Given the description of an element on the screen output the (x, y) to click on. 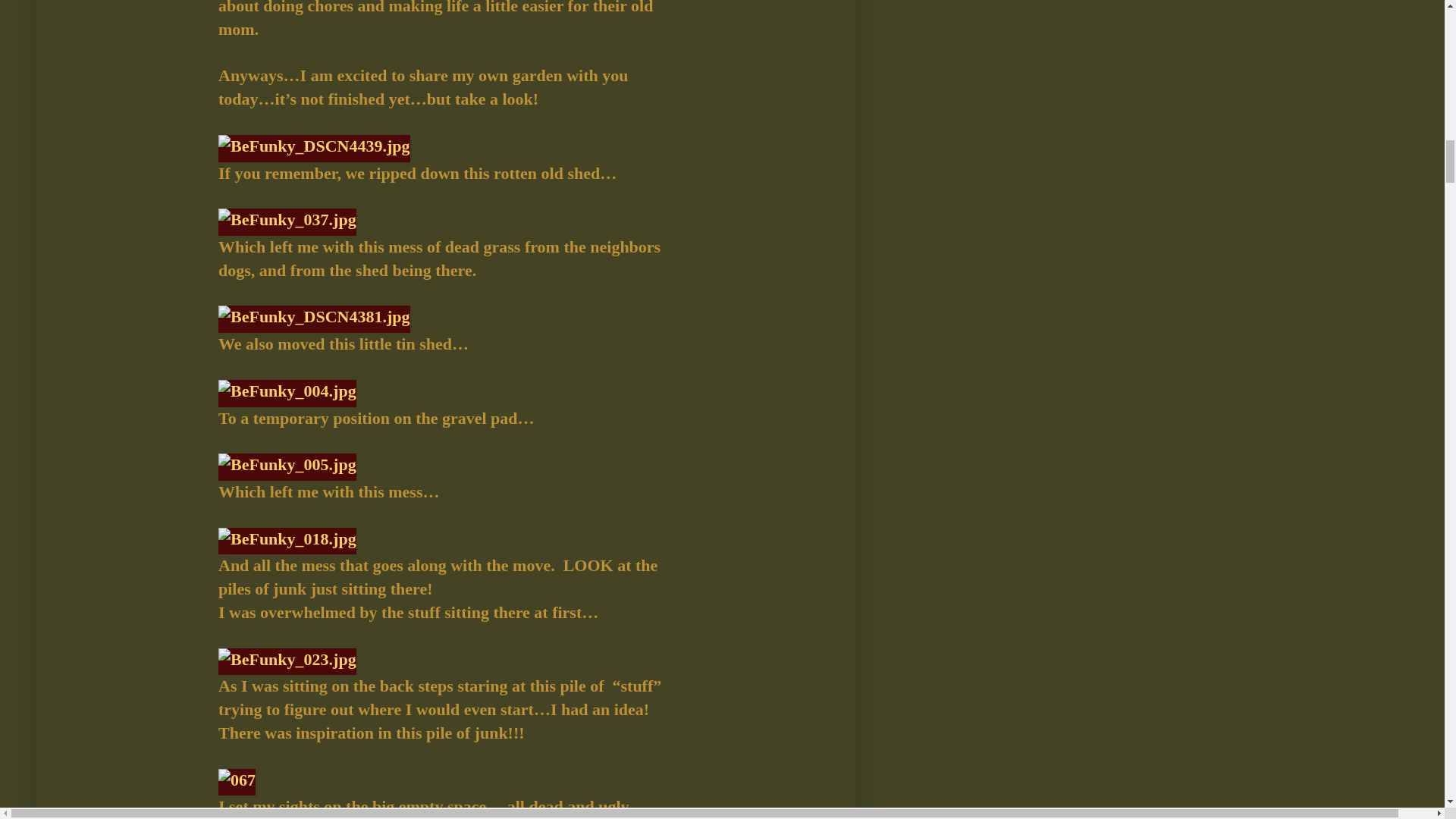
067 (237, 782)
